Given the description of an element on the screen output the (x, y) to click on. 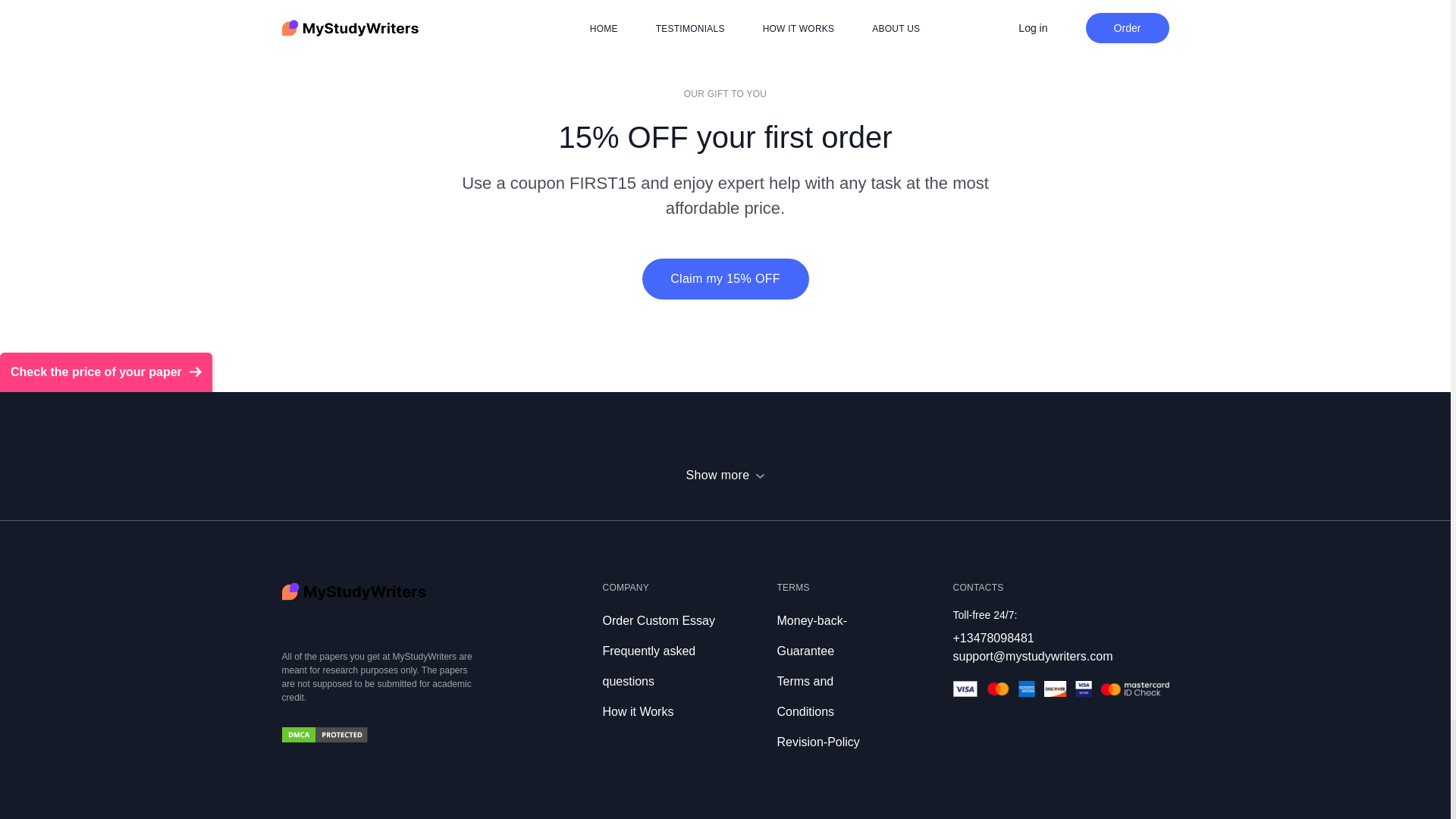
Revision-Policy (817, 741)
Show more (725, 474)
Money-back-Guarantee (810, 635)
Frequently asked questions (648, 665)
Order Custom Essay (658, 620)
Terms and Conditions (805, 696)
How it Works (637, 711)
